Given the description of an element on the screen output the (x, y) to click on. 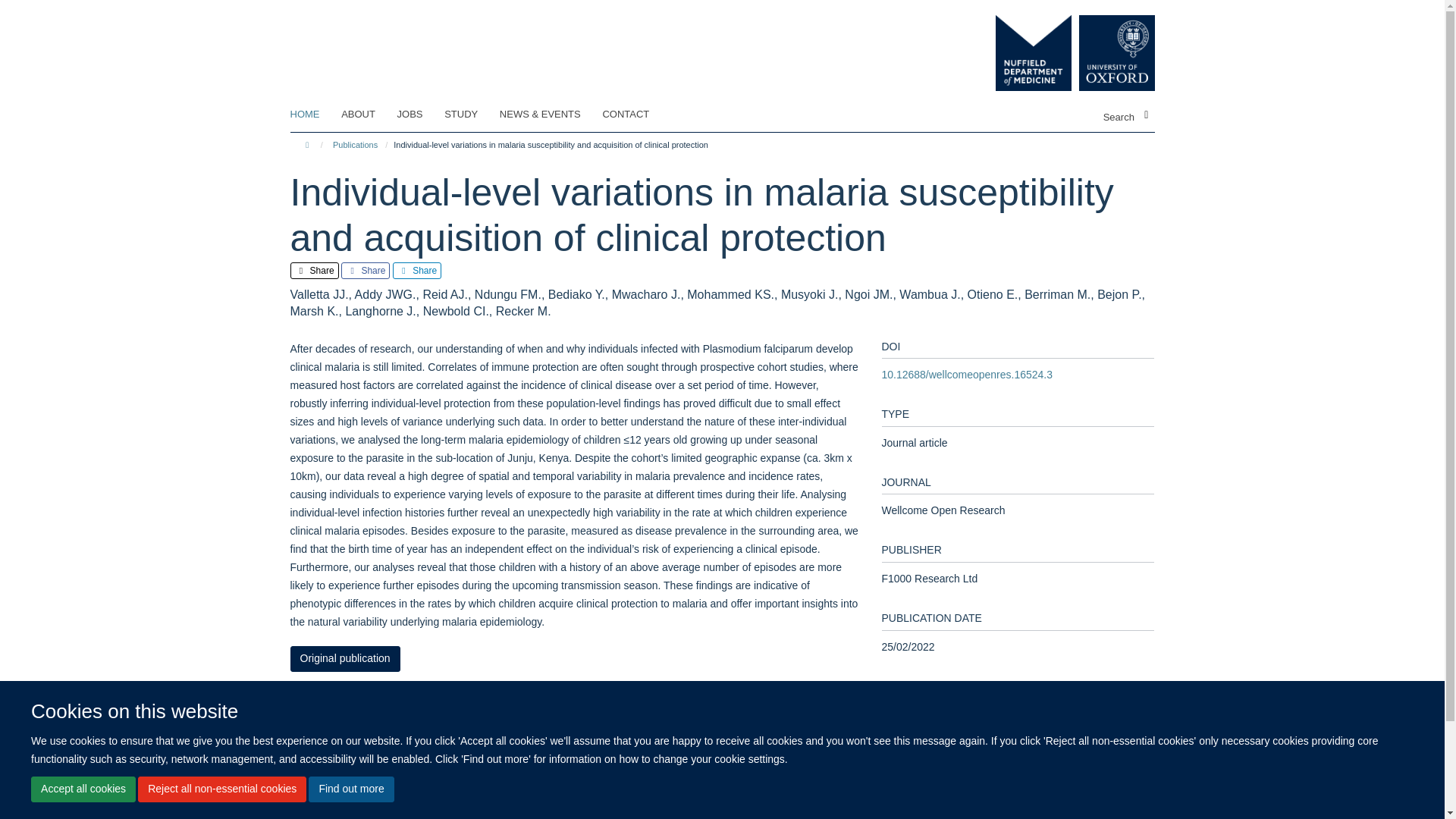
Find out more (350, 789)
Accept all cookies (82, 789)
ABOUT (367, 114)
HOME (313, 114)
Reject all non-essential cookies (221, 789)
